Given the description of an element on the screen output the (x, y) to click on. 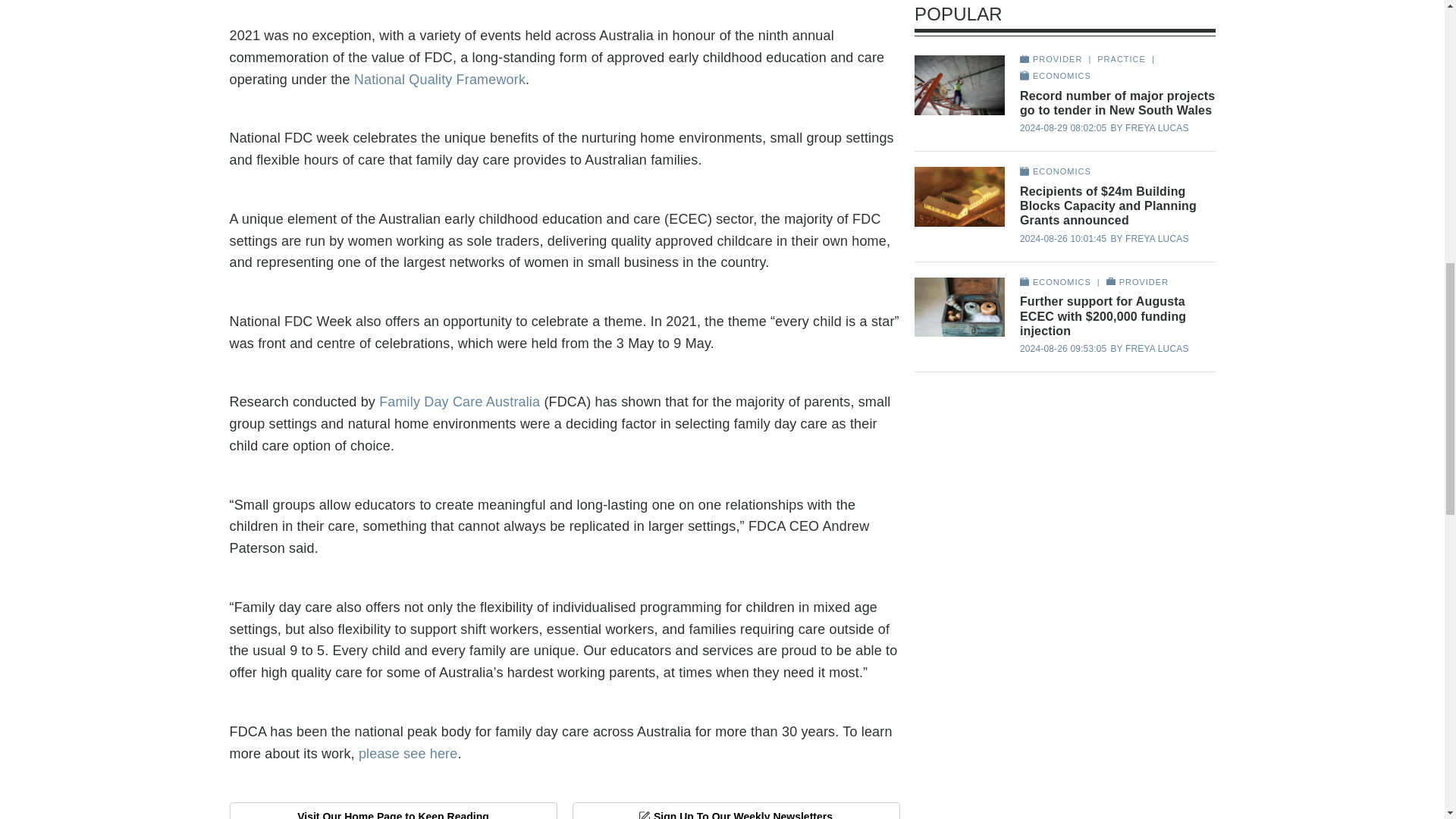
Sign Up To Our Weekly Newsletters (735, 810)
please see here (408, 753)
Visit Our Home Page to Keep Reading (392, 810)
National Quality Framework (439, 79)
Family Day Care Australia (459, 401)
